Given the description of an element on the screen output the (x, y) to click on. 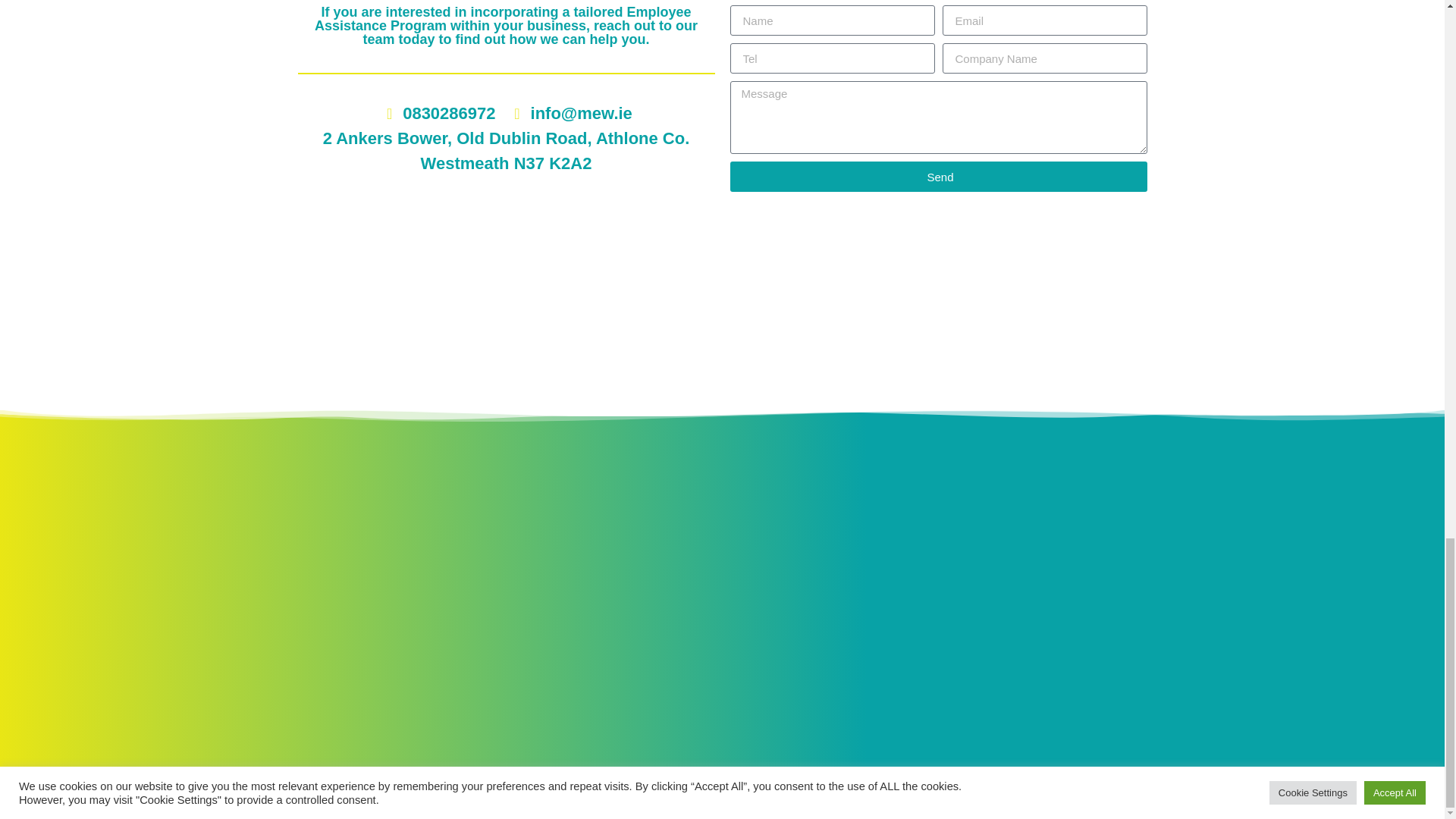
Send (938, 176)
Site managed by Wellmarkit (721, 771)
